Given the description of an element on the screen output the (x, y) to click on. 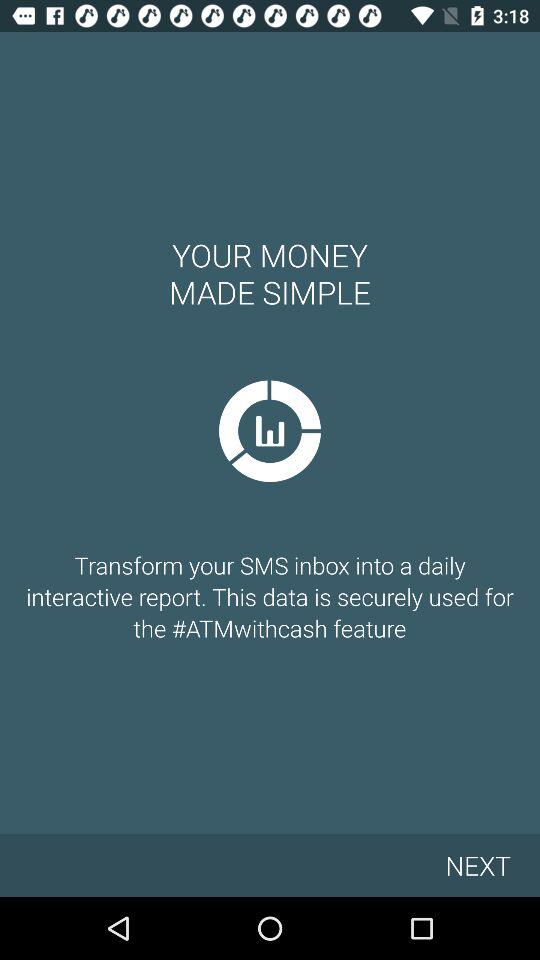
open next (478, 864)
